Given the description of an element on the screen output the (x, y) to click on. 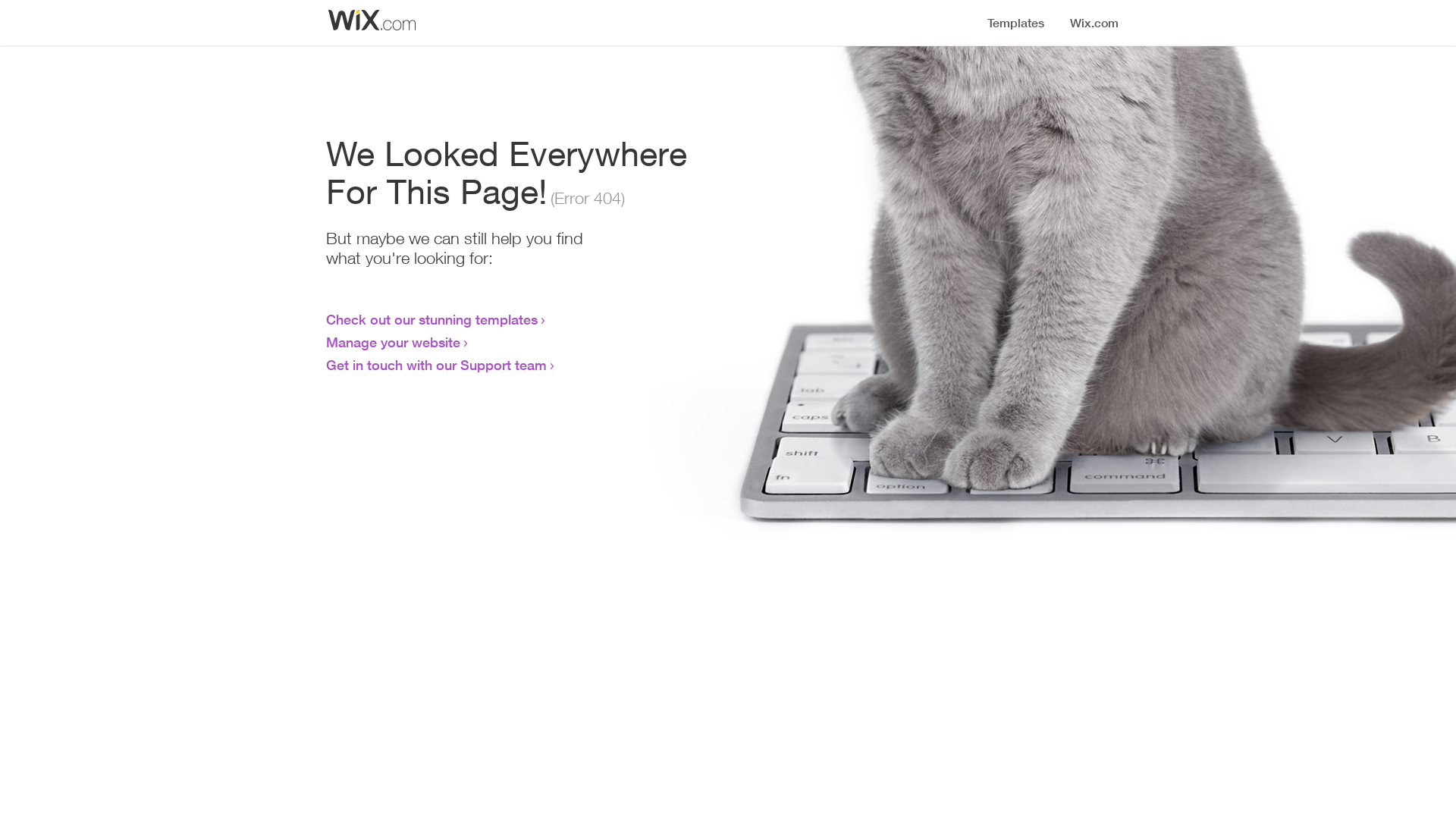
Manage your website Element type: text (393, 341)
Get in touch with our Support team Element type: text (436, 364)
Check out our stunning templates Element type: text (431, 318)
